Given the description of an element on the screen output the (x, y) to click on. 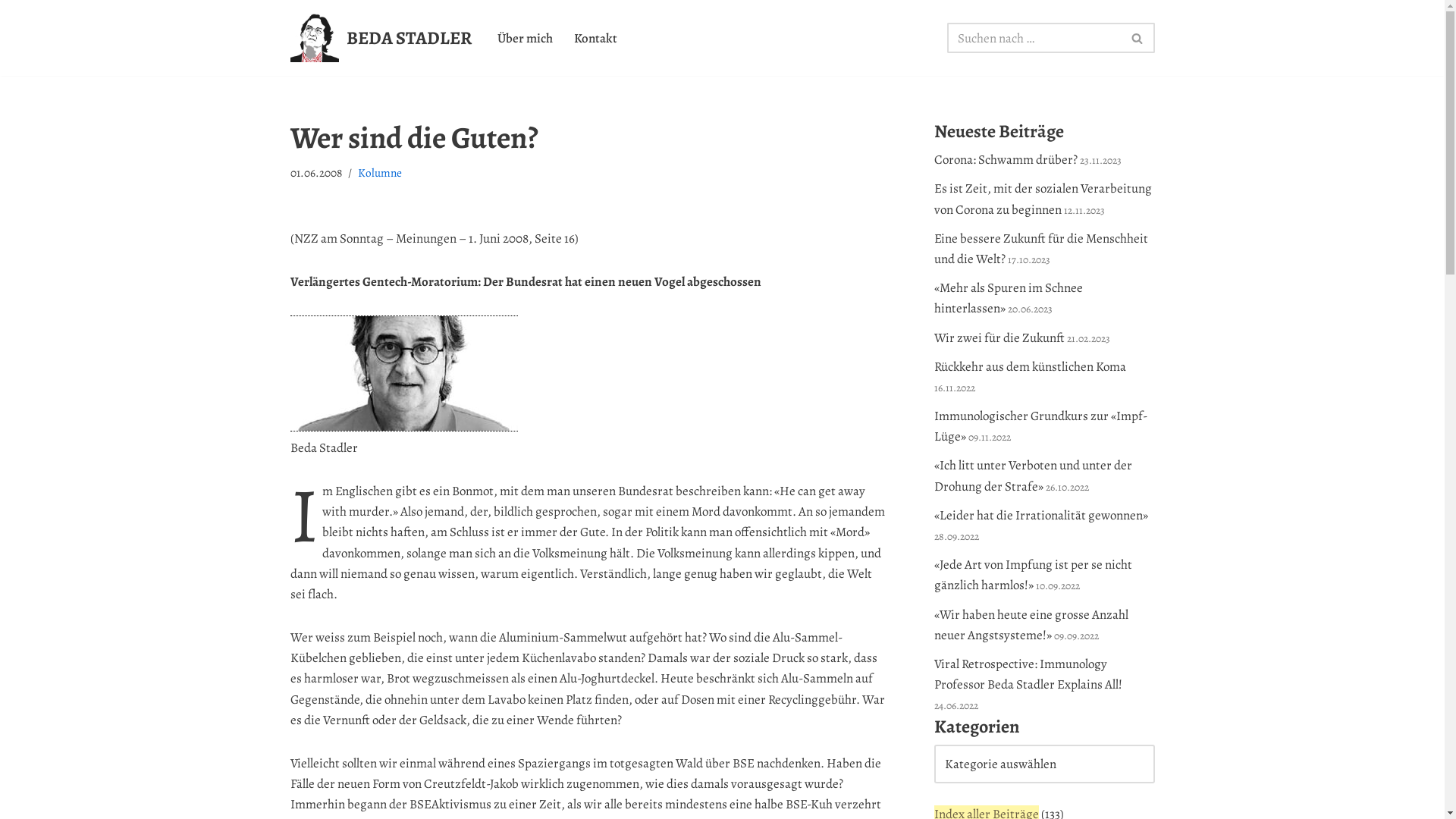
BEDA STADLER Element type: text (379, 37)
Zum Inhalt springen Element type: text (11, 31)
Kolumne Element type: text (379, 172)
Kontakt Element type: text (594, 37)
